Given the description of an element on the screen output the (x, y) to click on. 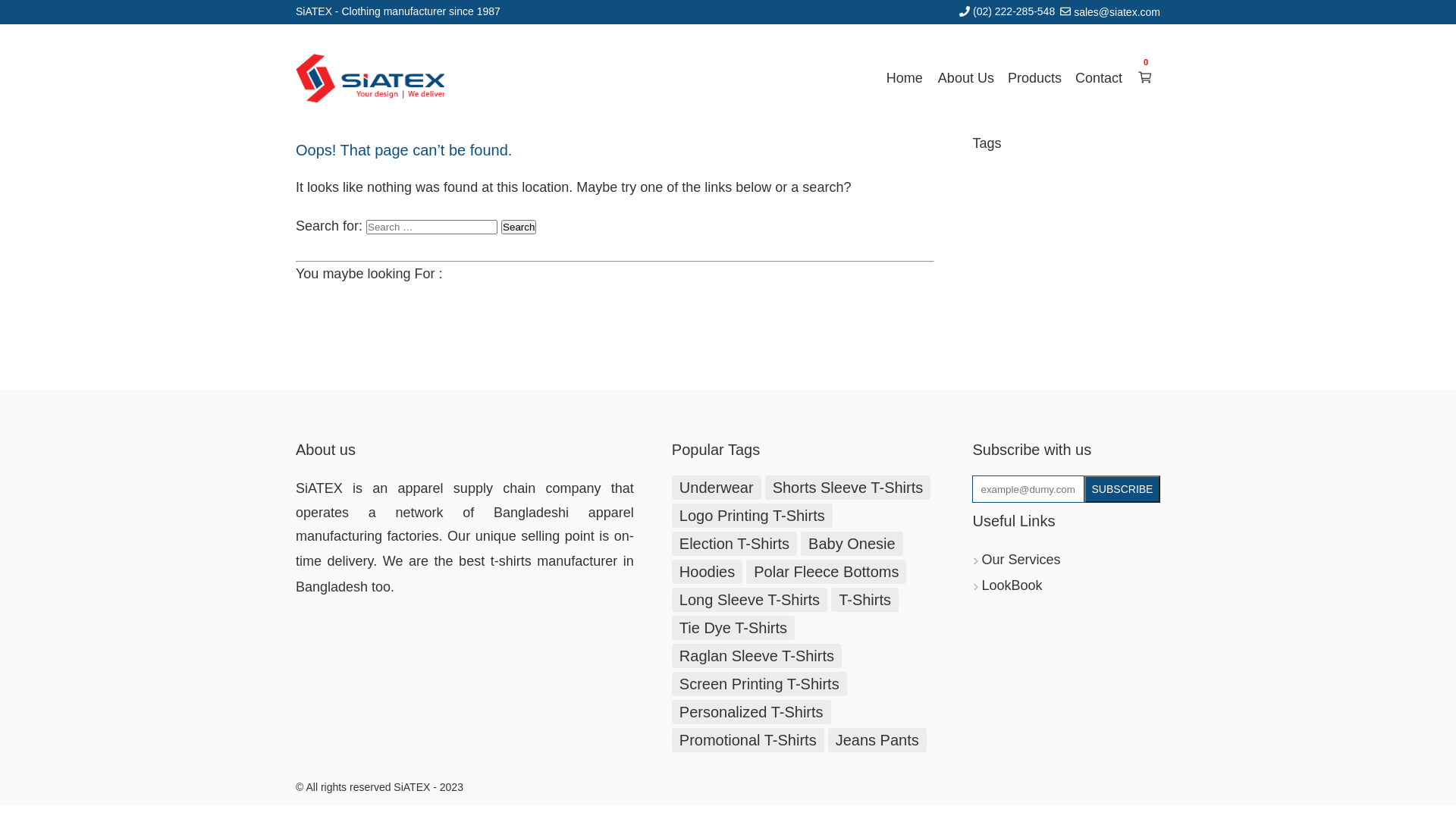
Polar Fleece Bottoms Element type: text (826, 571)
Products Element type: text (1034, 78)
Home Element type: text (904, 77)
Raglan Sleeve T-Shirts Element type: text (756, 655)
Election T-Shirts Element type: text (734, 543)
Jeans Pants Element type: text (877, 740)
SUBSCRIBE Element type: text (1122, 488)
SiATEX Element type: text (318, 487)
Hoodies Element type: text (706, 571)
Shorts Sleeve T-Shirts Element type: text (848, 487)
Long Sleeve T-Shirts Element type: text (749, 599)
Baby Onesie Element type: text (851, 543)
t-shirts manufacturer in Bangladesh Element type: text (464, 573)
T-Shirts Element type: text (864, 599)
Personalized T-Shirts Element type: text (751, 711)
Screen Printing T-Shirts Element type: text (759, 683)
Promotional T-Shirts Element type: text (747, 740)
About Us Element type: text (965, 77)
Search Element type: text (518, 226)
sales@siatex.com Element type: text (1116, 12)
Logo Printing T-Shirts Element type: text (751, 515)
Contact Element type: text (1098, 77)
LookBook Element type: text (1011, 585)
Underwear Element type: text (716, 487)
Our Services Element type: text (1020, 559)
Tie Dye T-Shirts Element type: text (732, 627)
